Given the description of an element on the screen output the (x, y) to click on. 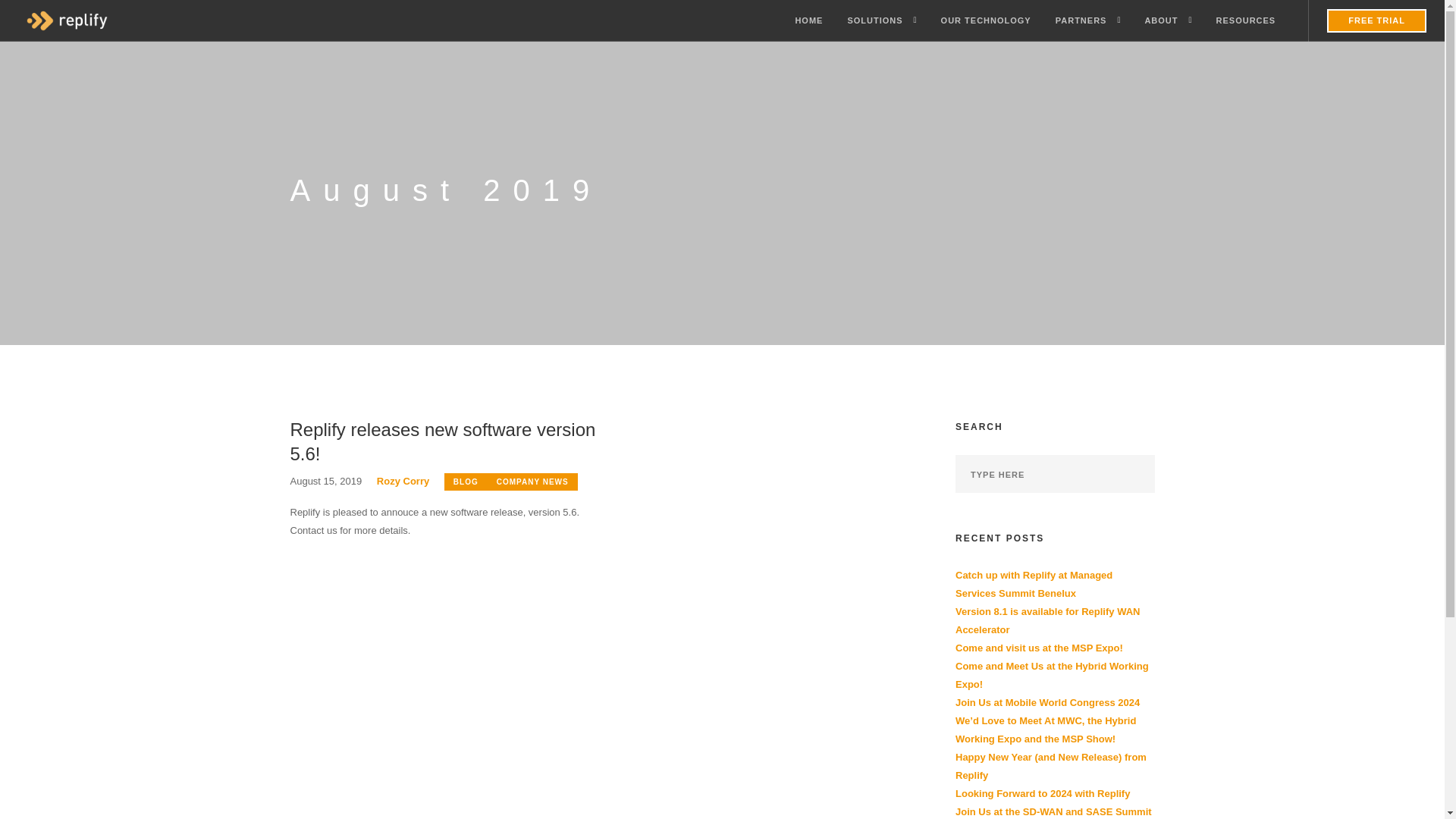
OUR TECHNOLOGY (985, 21)
Posts by Rozy Corry (403, 480)
Rozy Corry (403, 480)
Join Us at Mobile World Congress 2024 (1047, 702)
Version 8.1 is available for Replify WAN Accelerator (1047, 620)
Come and Meet Us at the Hybrid Working Expo! (1051, 675)
BLOG (465, 481)
Come and visit us at the MSP Expo! (1038, 647)
Join Us at the SD-WAN and SASE Summit in Paris (1053, 812)
PARTNERS (1080, 21)
Catch up with Replify at Managed Services Summit Benelux (1033, 583)
Looking Forward to 2024 with Replify (1042, 793)
Replify releases new software version 5.6! (444, 441)
RESOURCES (1245, 21)
COMPANY NEWS (532, 481)
